Given the description of an element on the screen output the (x, y) to click on. 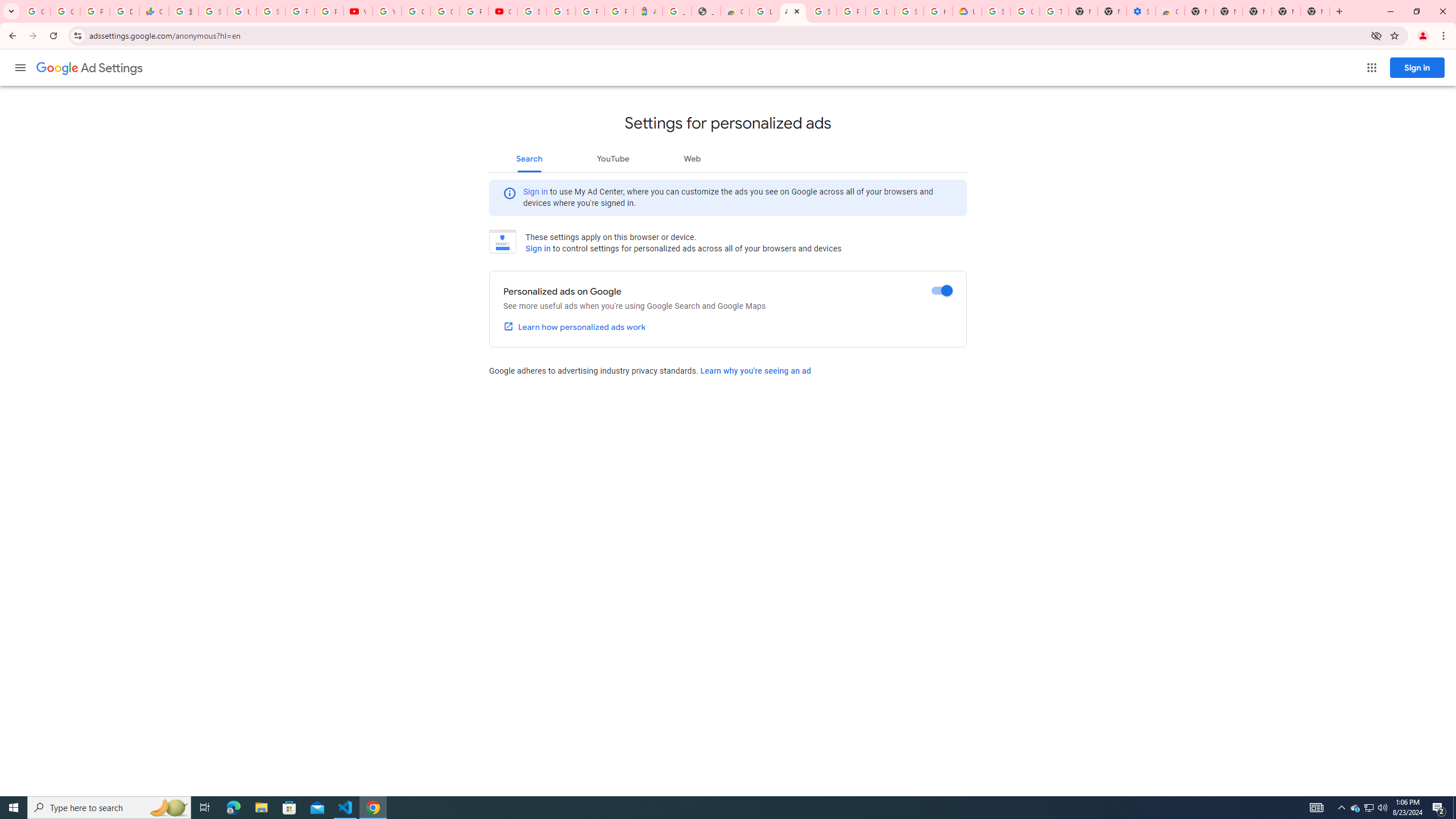
YouTube (386, 11)
Main menu (20, 67)
Create your Google Account (444, 11)
Sign in - Google Accounts (908, 11)
Content Creator Programs & Opportunities - YouTube Creators (502, 11)
